Given the description of an element on the screen output the (x, y) to click on. 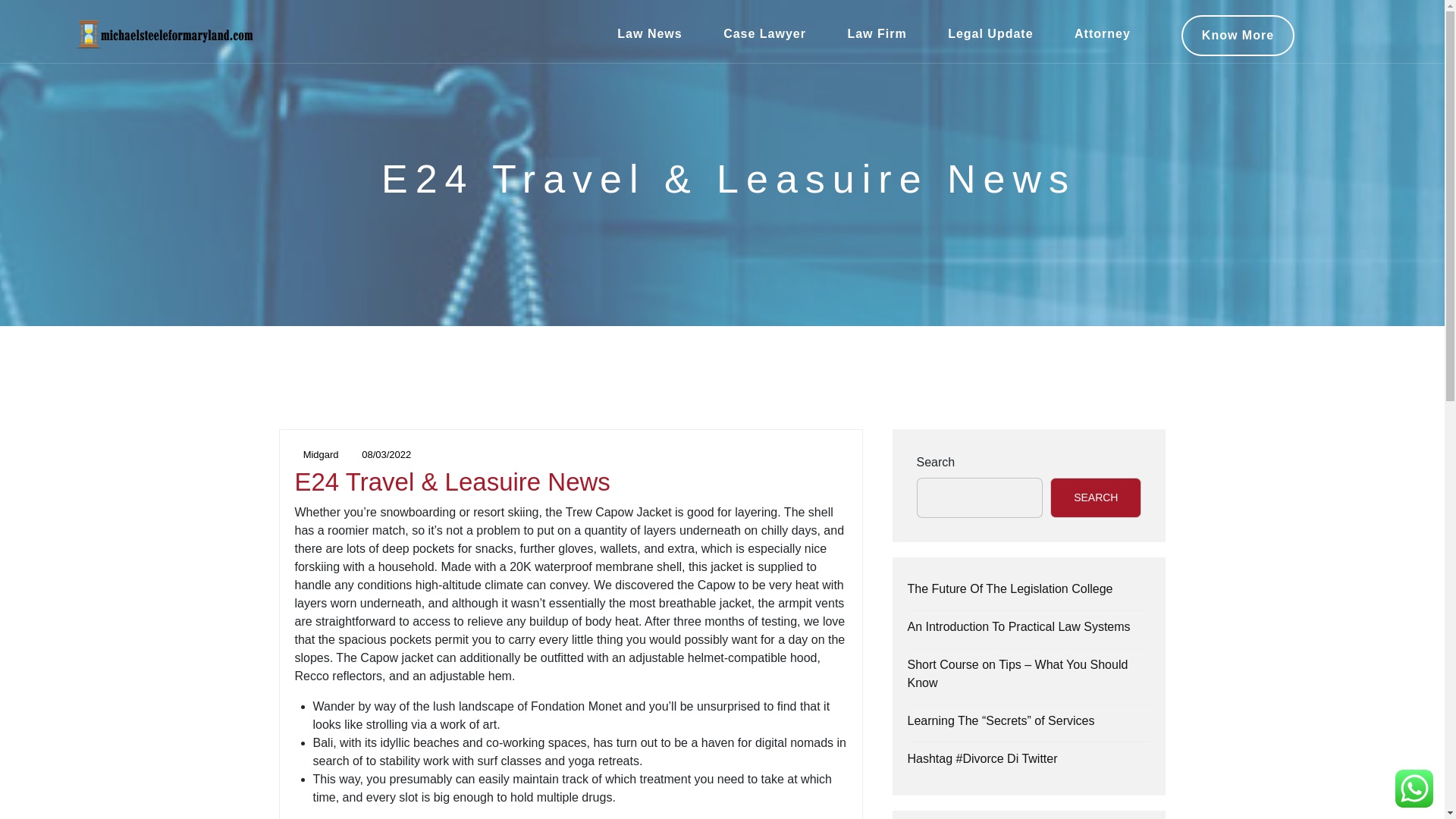
Case Lawyer (764, 34)
Law Firm (876, 34)
Law News (649, 34)
Attorney (1102, 34)
An Introduction To Practical Law Systems (1018, 626)
SEARCH (1095, 497)
Legal Update (989, 34)
The Future Of The Legislation College (1009, 588)
Know More (1237, 35)
Midgard (315, 454)
